Given the description of an element on the screen output the (x, y) to click on. 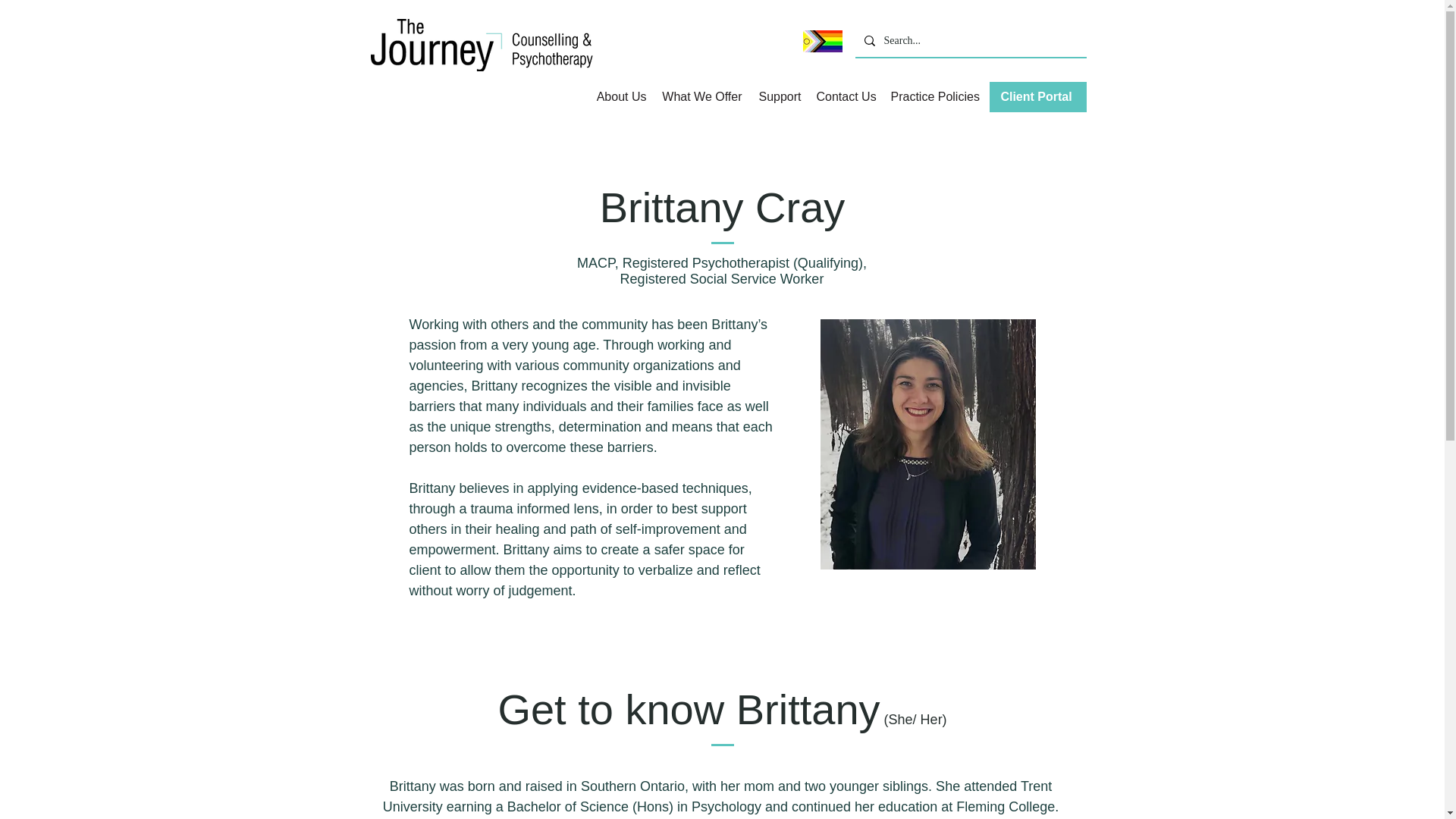
What We Offer (701, 96)
Contact Us (845, 96)
Client Portal (1037, 96)
Practice Policies (933, 96)
